Given the description of an element on the screen output the (x, y) to click on. 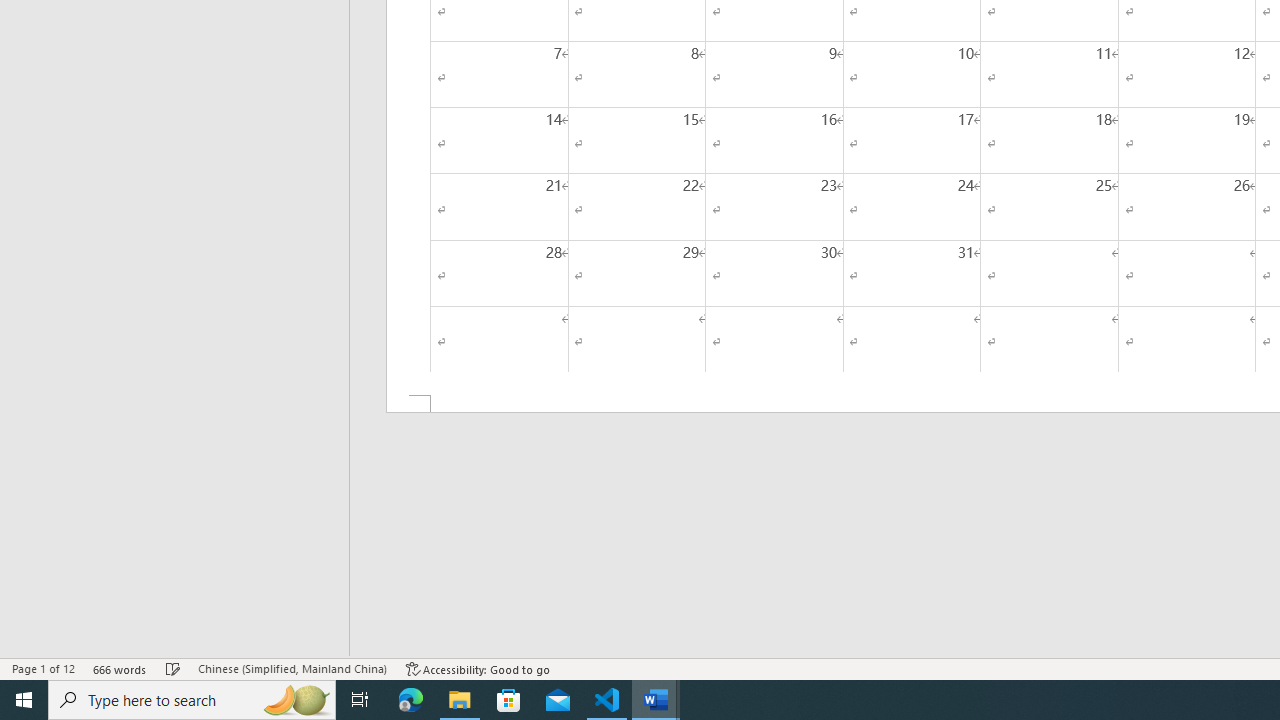
Spelling and Grammar Check Checking (173, 668)
Word Count 666 words (119, 668)
Page Number Page 1 of 12 (43, 668)
Language Chinese (Simplified, Mainland China) (292, 668)
Accessibility Checker Accessibility: Good to go (478, 668)
